Given the description of an element on the screen output the (x, y) to click on. 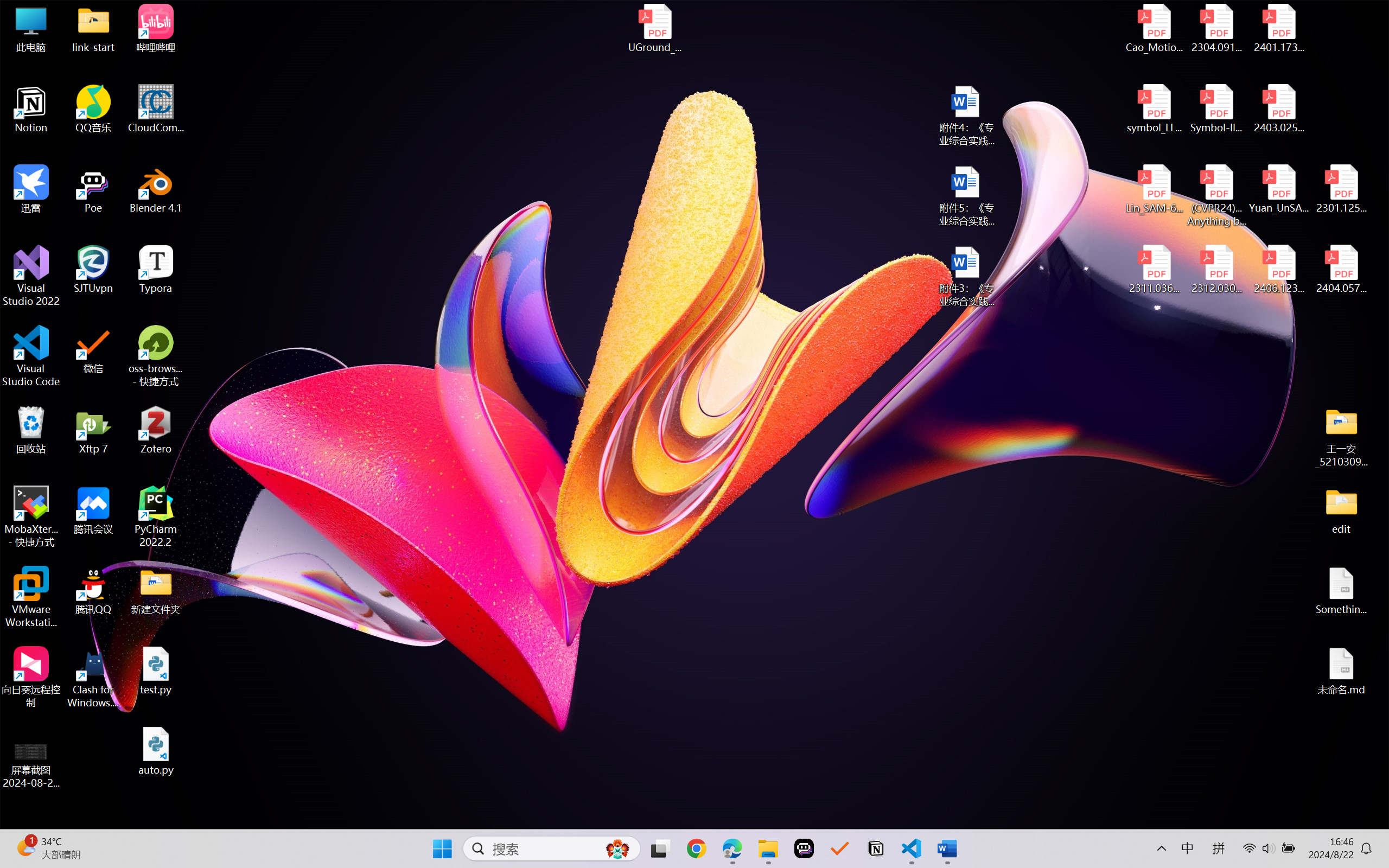
2401.17399v1.pdf (1278, 28)
2406.12373v2.pdf (1278, 269)
Something.md (1340, 591)
2311.03658v2.pdf (1154, 269)
Visual Studio 2022 (31, 276)
PyCharm 2022.2 (156, 516)
